Given the description of an element on the screen output the (x, y) to click on. 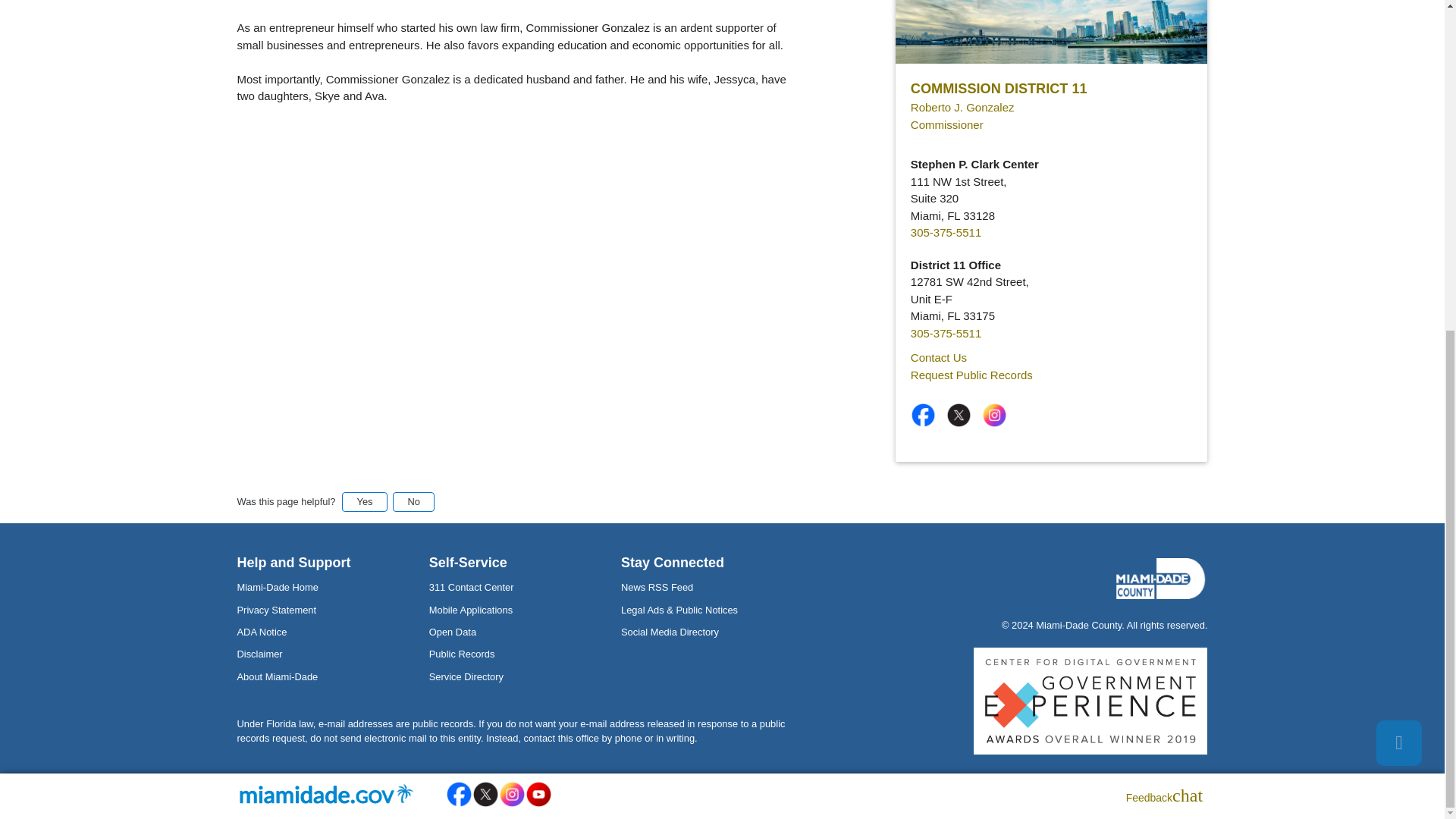
No (413, 501)
Yes (364, 501)
